Given the description of an element on the screen output the (x, y) to click on. 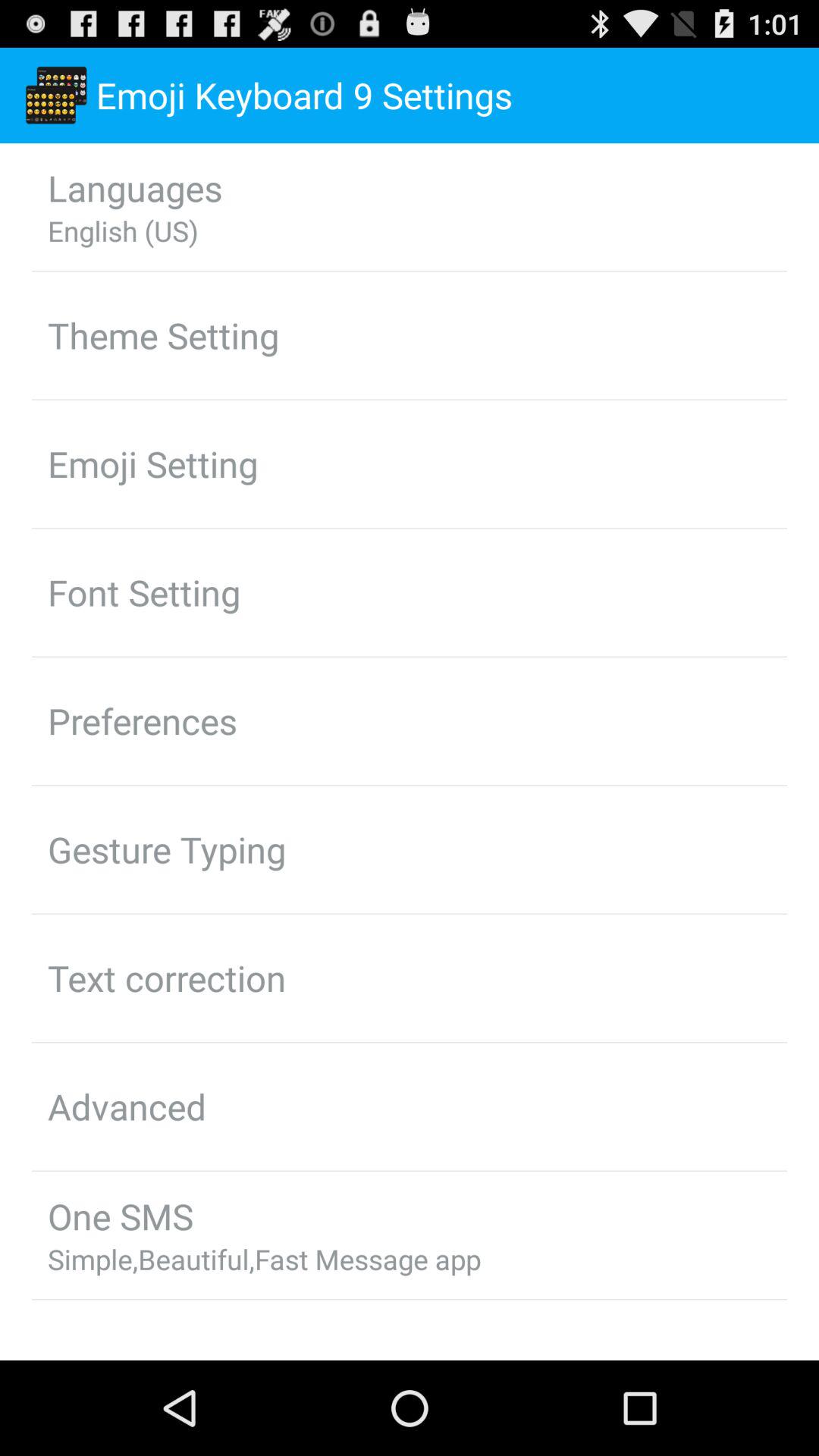
choose icon above emoji setting icon (163, 335)
